Given the description of an element on the screen output the (x, y) to click on. 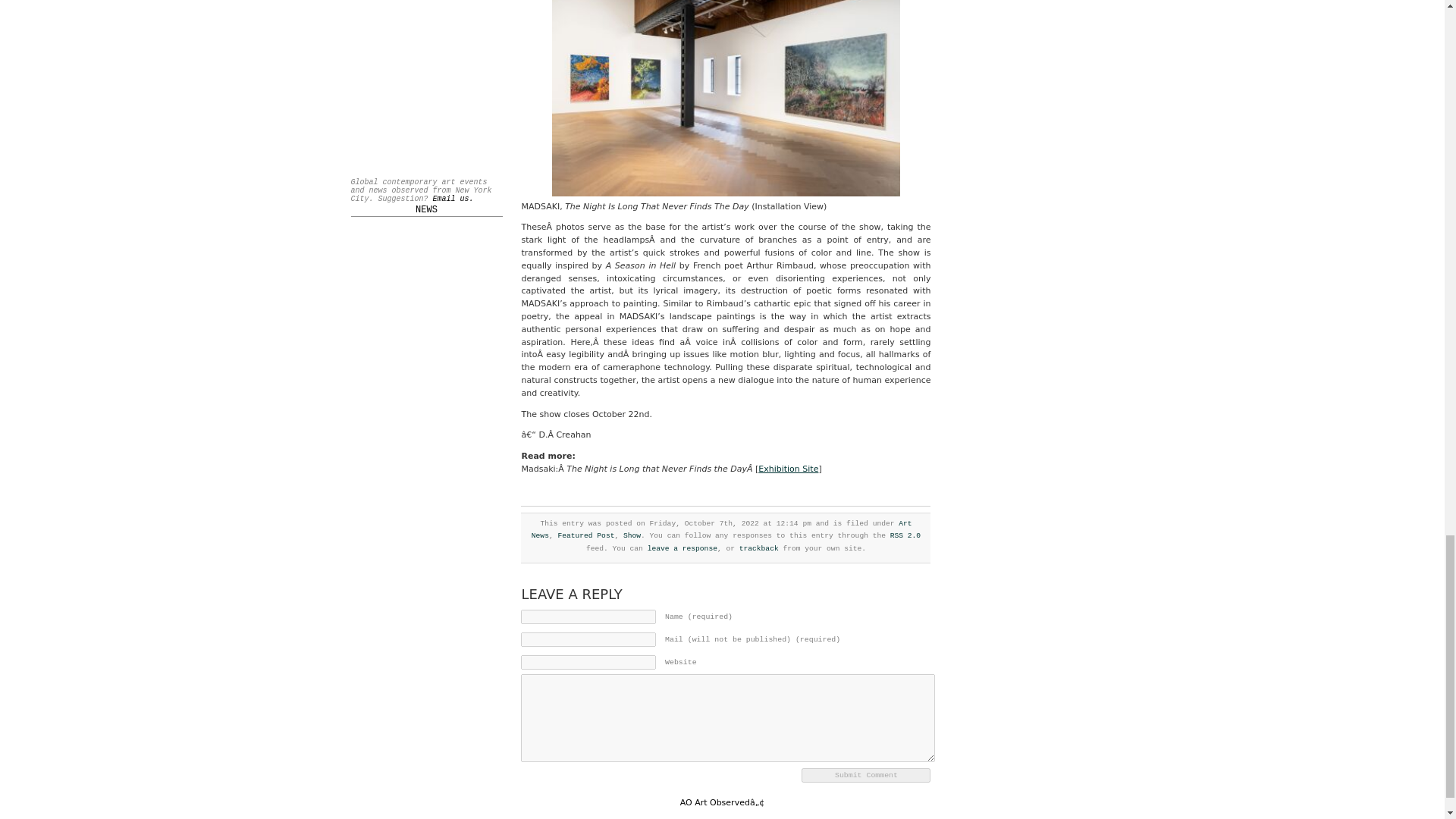
leave a response (682, 548)
trackback (758, 548)
Submit Comment (866, 775)
RSS 2.0 (904, 535)
Show (631, 535)
Submit Comment (866, 775)
Exhibition Site (788, 469)
Art News (721, 529)
Featured Post (585, 535)
